Given the description of an element on the screen output the (x, y) to click on. 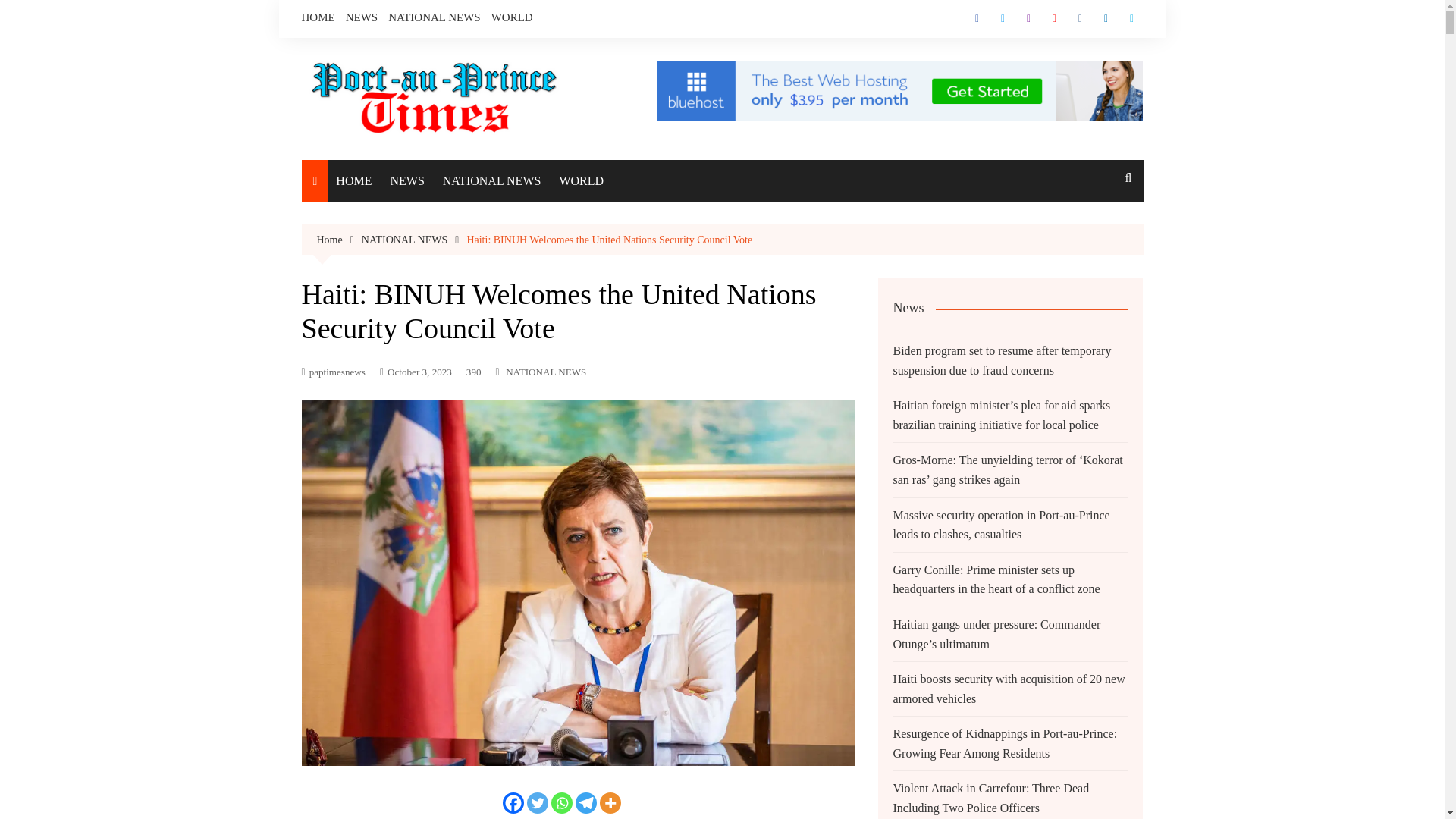
NEWS (405, 180)
WORLD (512, 17)
Telegram (585, 803)
NATIONAL NEWS (434, 17)
Facebook (513, 803)
HOME (317, 17)
paptimesnews (333, 371)
NATIONAL NEWS (545, 371)
Instagram (1027, 18)
390 (473, 371)
